Given the description of an element on the screen output the (x, y) to click on. 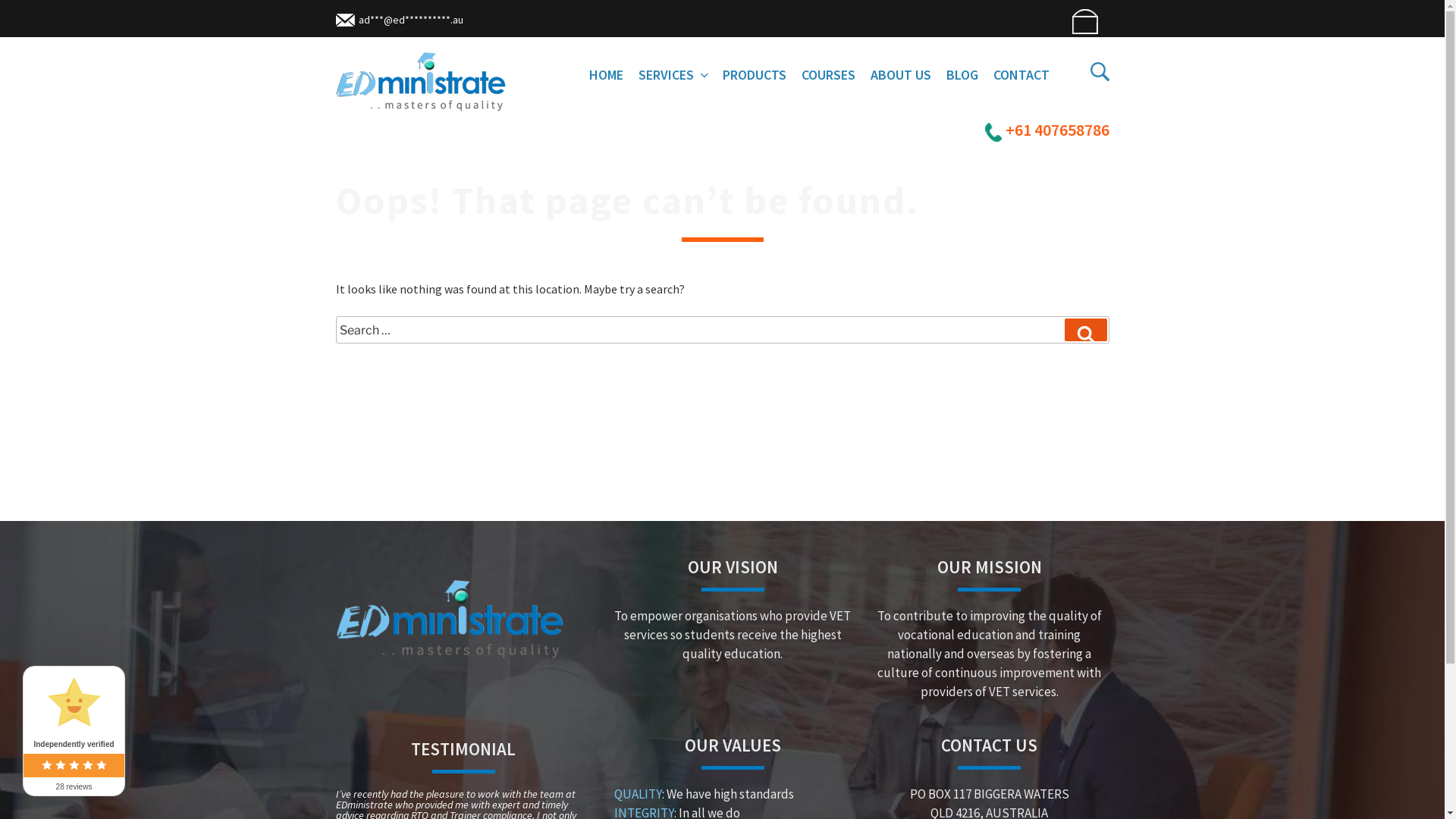
HOME Element type: text (605, 74)
COURSES Element type: text (827, 74)
CONTACT Element type: text (1021, 74)
+61 407658786 Element type: text (1045, 130)
View your shopping cart Element type: hover (1082, 21)
ad***@ed**********.au Element type: text (398, 20)
PRODUCTS Element type: text (753, 74)
SERVICES Element type: text (672, 74)
EDMINISTRATE Element type: text (437, 134)
BLOG Element type: text (962, 74)
SEARCH Element type: text (1085, 329)
ABOUT US Element type: text (900, 74)
